Given the description of an element on the screen output the (x, y) to click on. 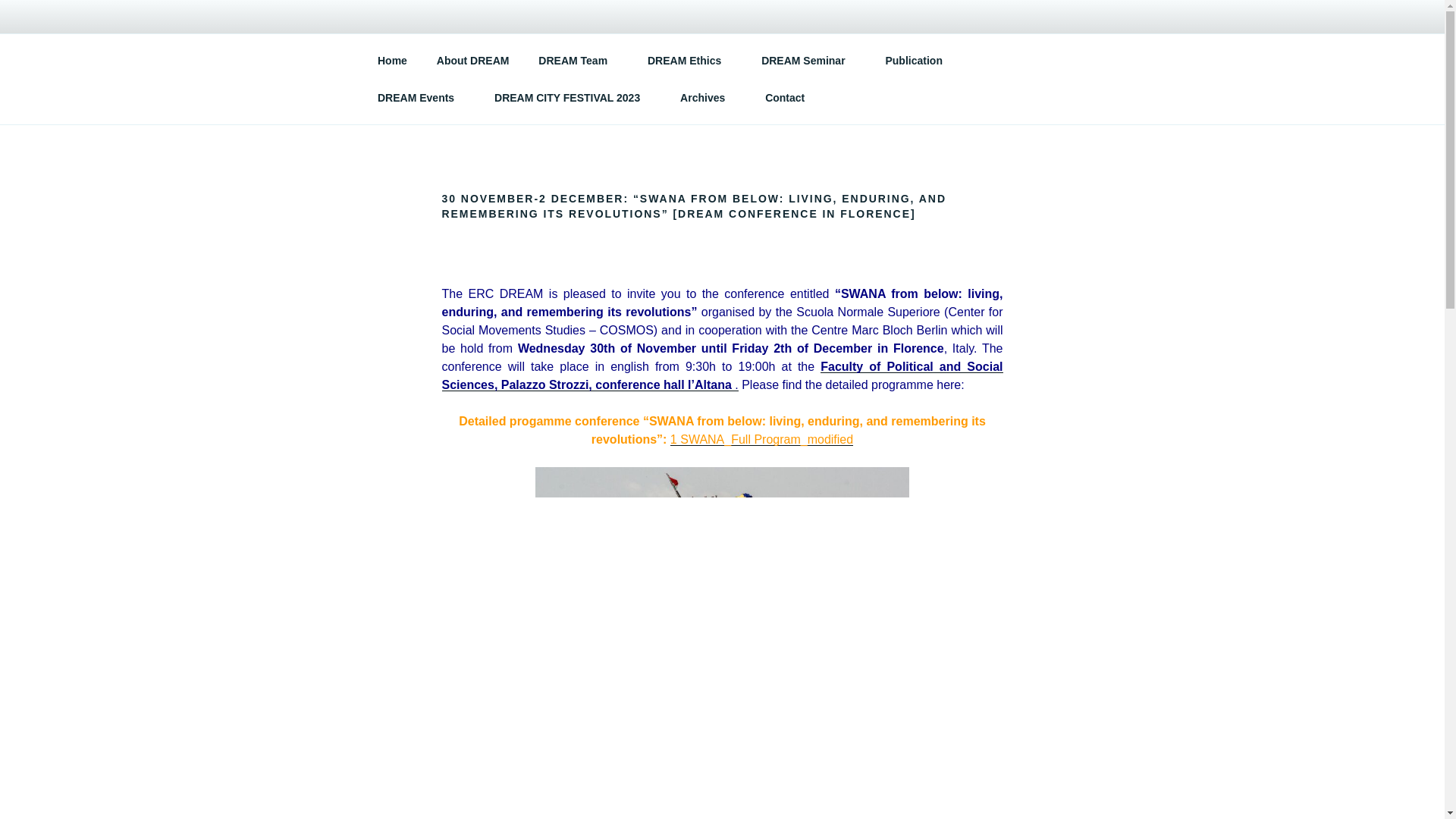
DREAM (433, 52)
About DREAM (472, 60)
DREAM Team (578, 60)
DREAM Seminar (808, 60)
Home (392, 60)
DREAM Ethics (688, 60)
